Given the description of an element on the screen output the (x, y) to click on. 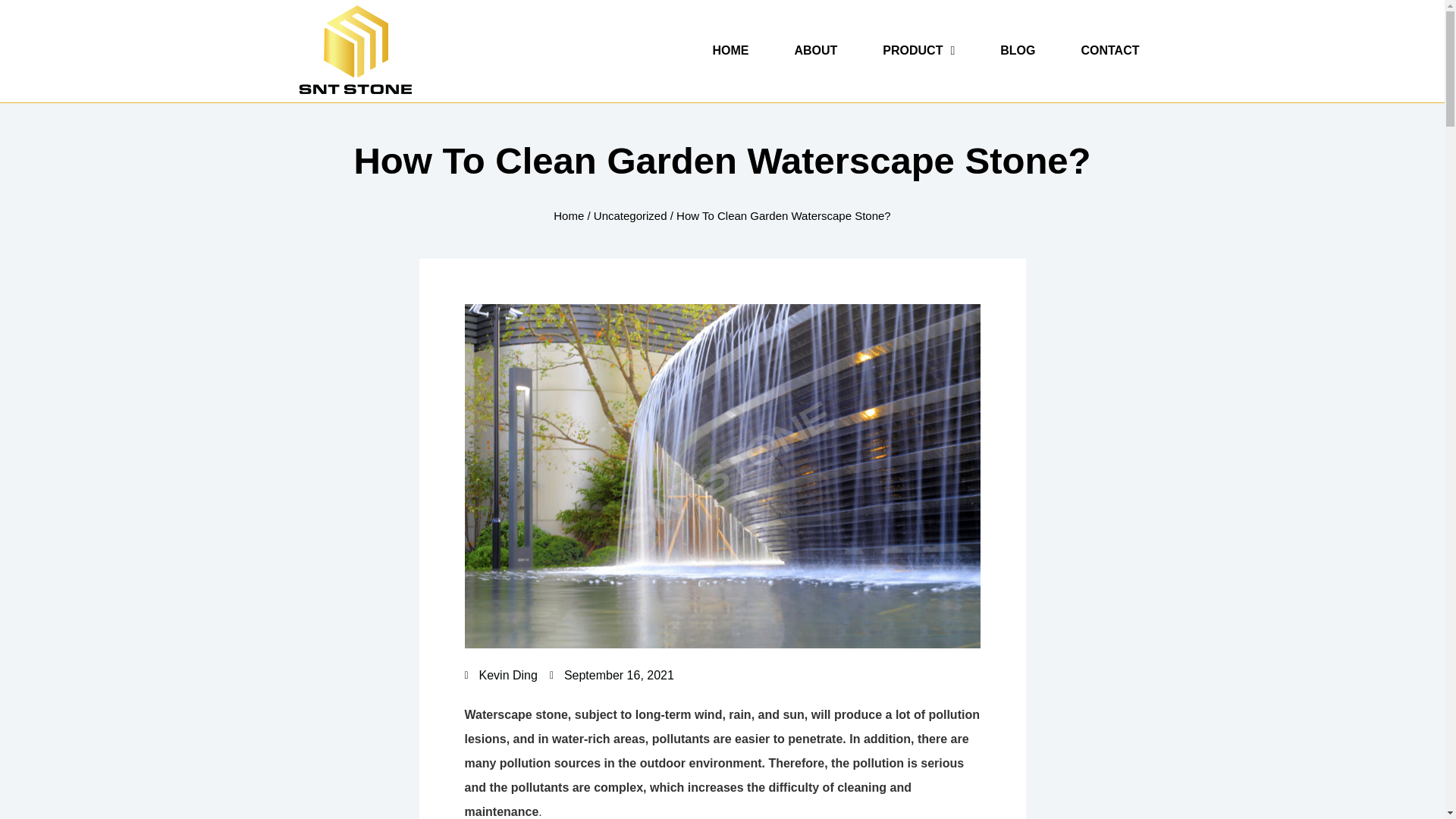
Uncategorized (630, 215)
ABOUT (814, 50)
Kevin Ding (500, 675)
BLOG (1017, 50)
PRODUCT (918, 50)
CONTACT (1109, 50)
HOME (729, 50)
Home (568, 215)
